Given the description of an element on the screen output the (x, y) to click on. 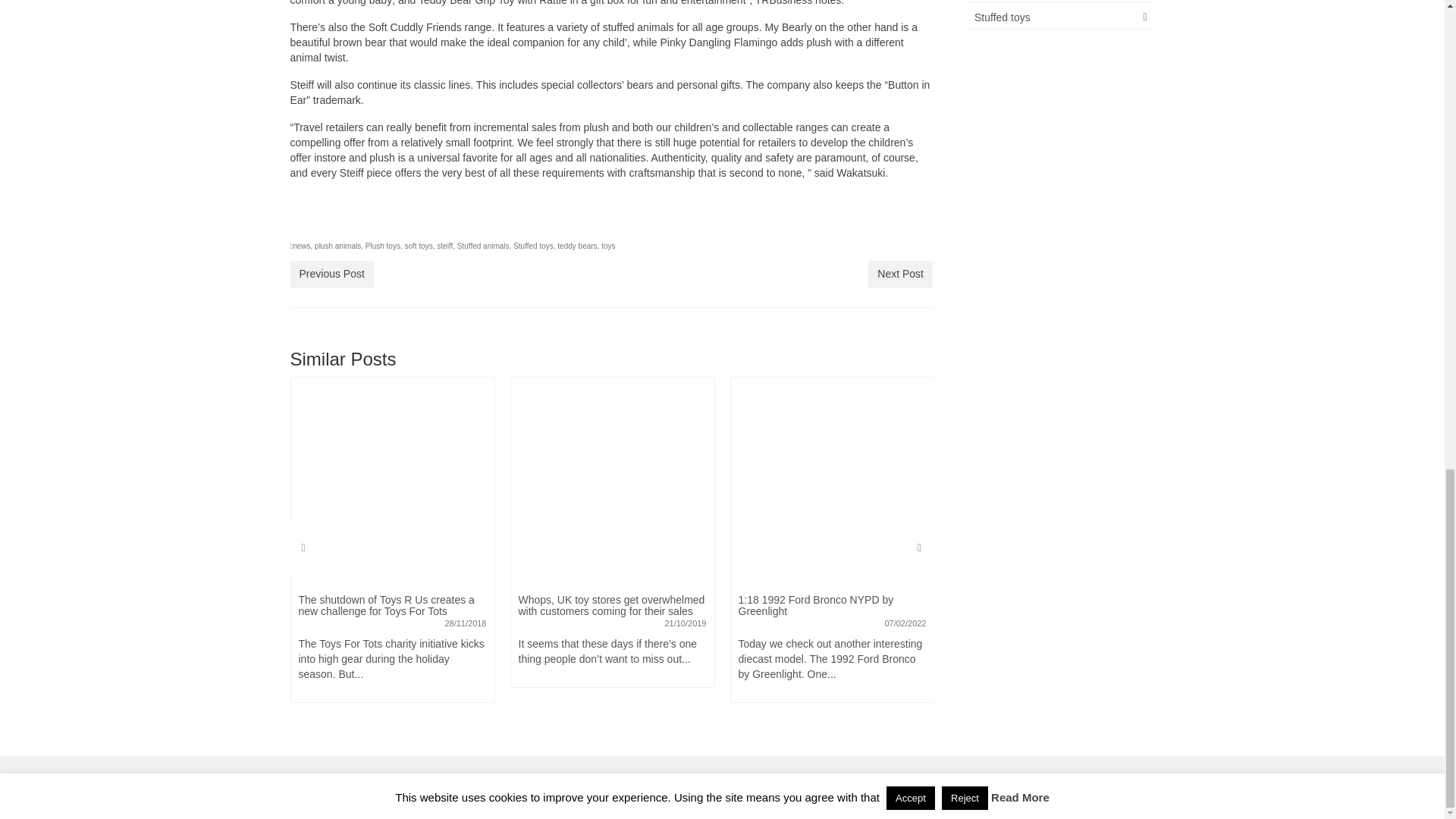
Share on Linkedin (413, 221)
Share on Twitter (330, 221)
Share on tumblr (442, 221)
Share on Facebook (301, 221)
Pin it with Pinterest (386, 221)
Share on Reddit (357, 221)
